Given the description of an element on the screen output the (x, y) to click on. 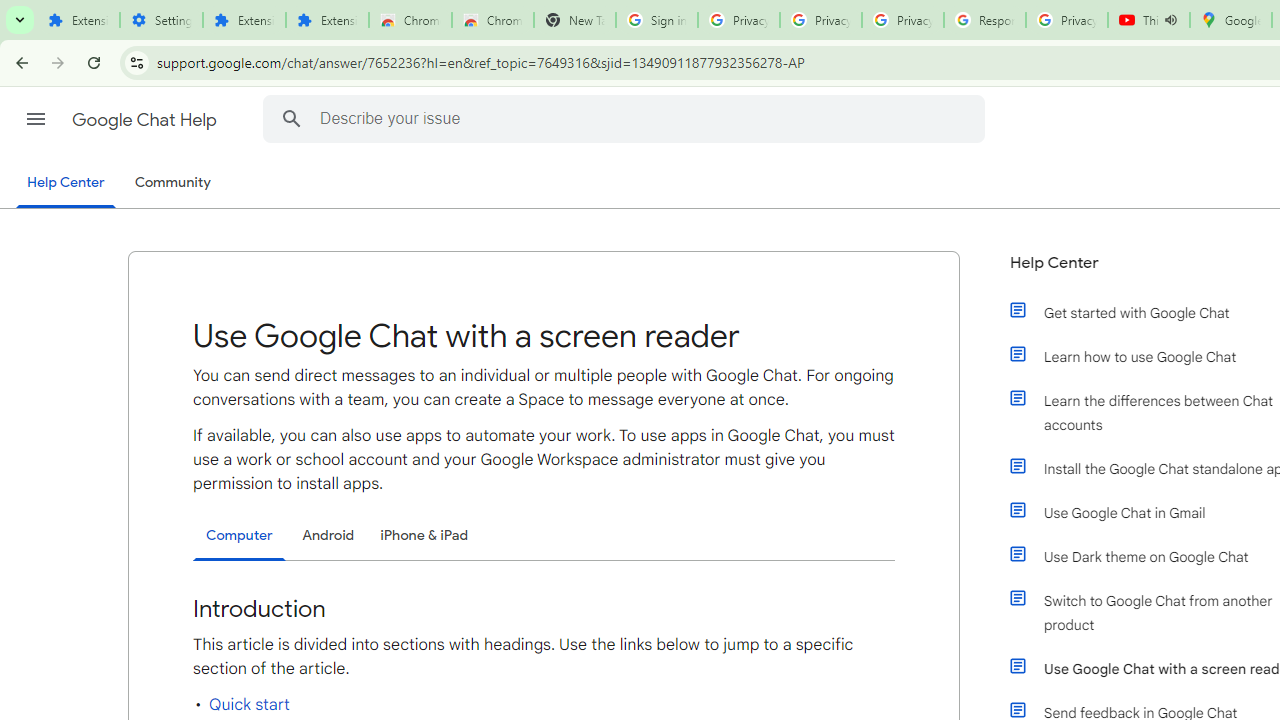
Describe your issue (626, 118)
Extensions (326, 20)
